Given the description of an element on the screen output the (x, y) to click on. 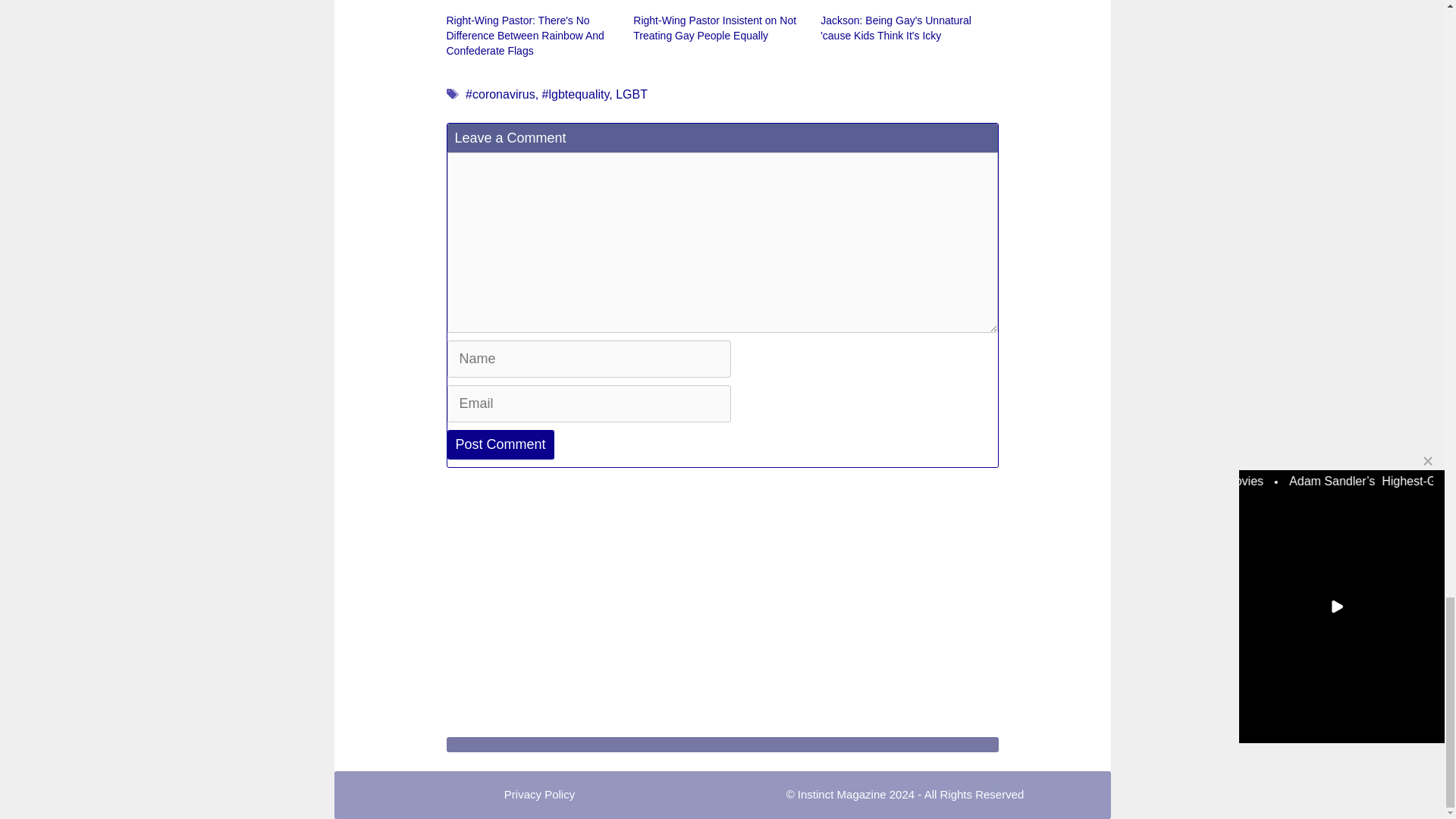
Jackson: Being Gay's Unnatural 'cause Kids Think It's Icky (906, 6)
Jackson: Being Gay's Unnatural 'cause Kids Think It's Icky (896, 27)
Post Comment (500, 444)
